Given the description of an element on the screen output the (x, y) to click on. 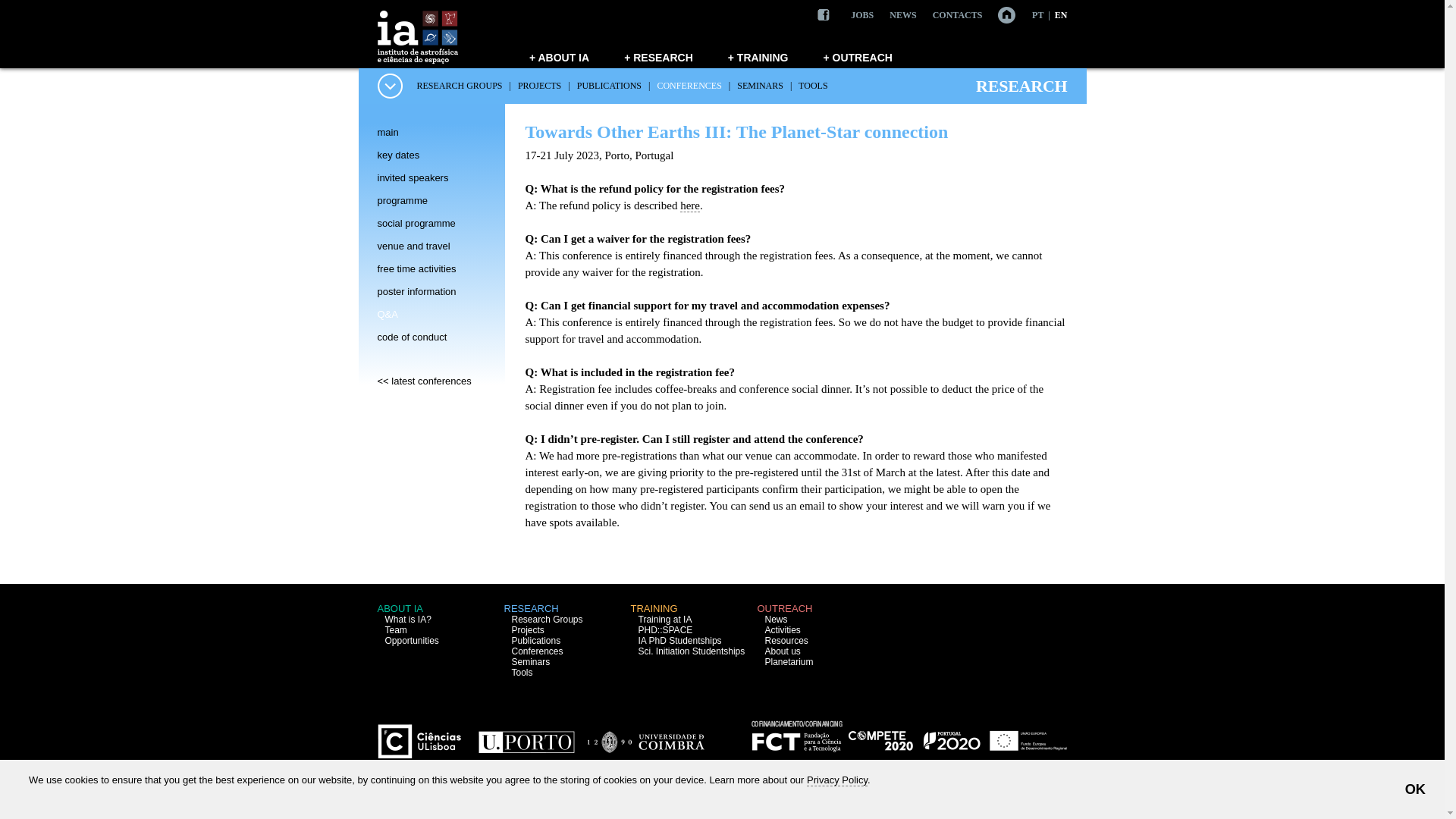
RESEARCH GROUPS (459, 85)
PT (1037, 14)
JOBS (861, 14)
social programme (416, 223)
programme (402, 200)
PUBLICATIONS (609, 85)
TOOLS (812, 85)
NEWS (902, 14)
SEMINARS (759, 85)
key dates (398, 154)
main (387, 132)
CONTACTS (957, 14)
PROJECTS (539, 85)
invited speakers (412, 177)
Home (999, 14)
